Given the description of an element on the screen output the (x, y) to click on. 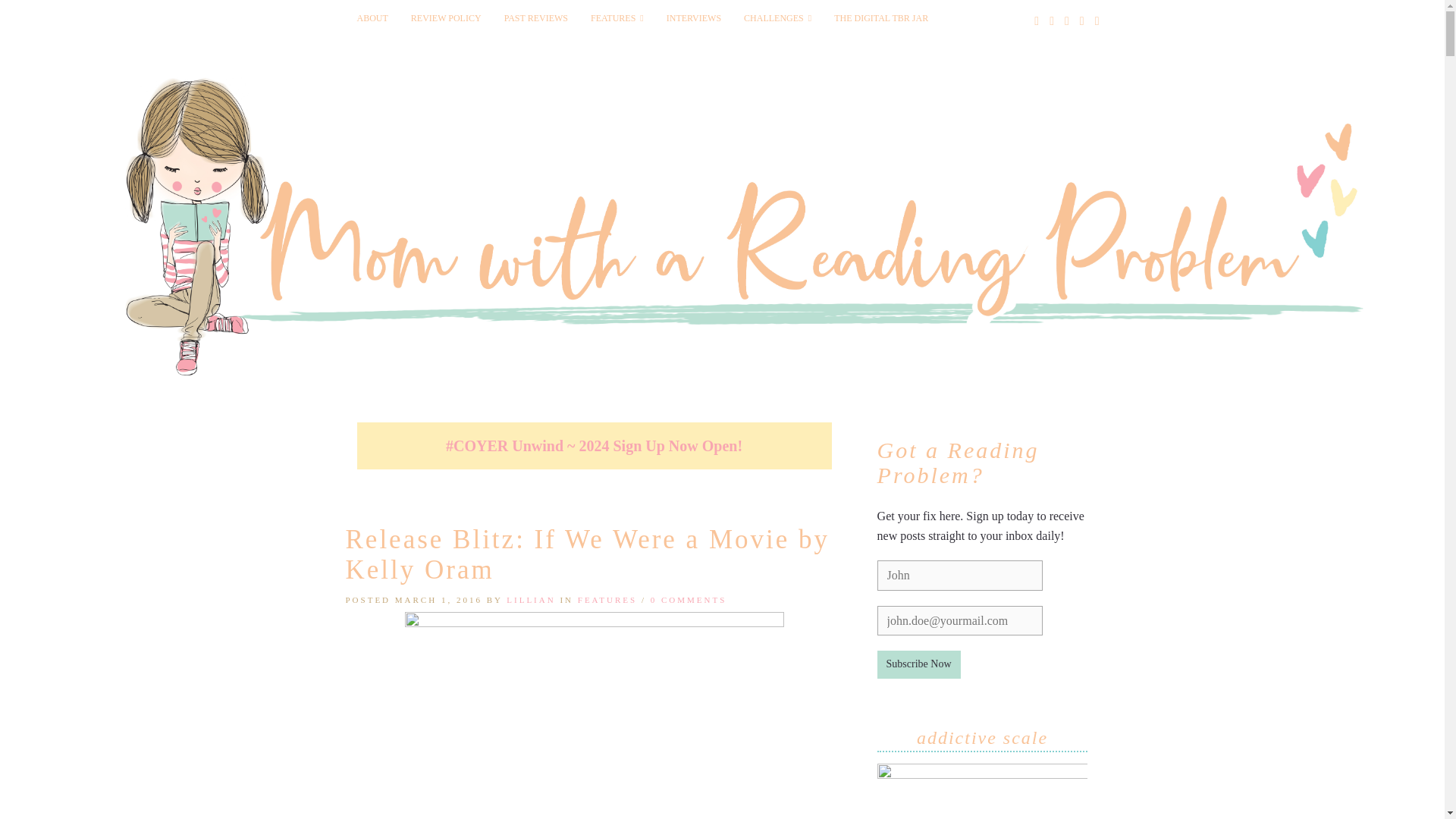
PAST REVIEWS (536, 18)
FEATURES   (617, 18)
INTERVIEWS (693, 18)
Subscribe Now (918, 664)
0 COMMENTS (688, 599)
LILLIAN (530, 599)
Challenges (777, 18)
View all posts in Features (607, 599)
ABOUT (372, 18)
REVIEW POLICY (445, 18)
FEATURES (607, 599)
THE DIGITAL TBR JAR (880, 18)
CHALLENGES   (777, 18)
